Given the description of an element on the screen output the (x, y) to click on. 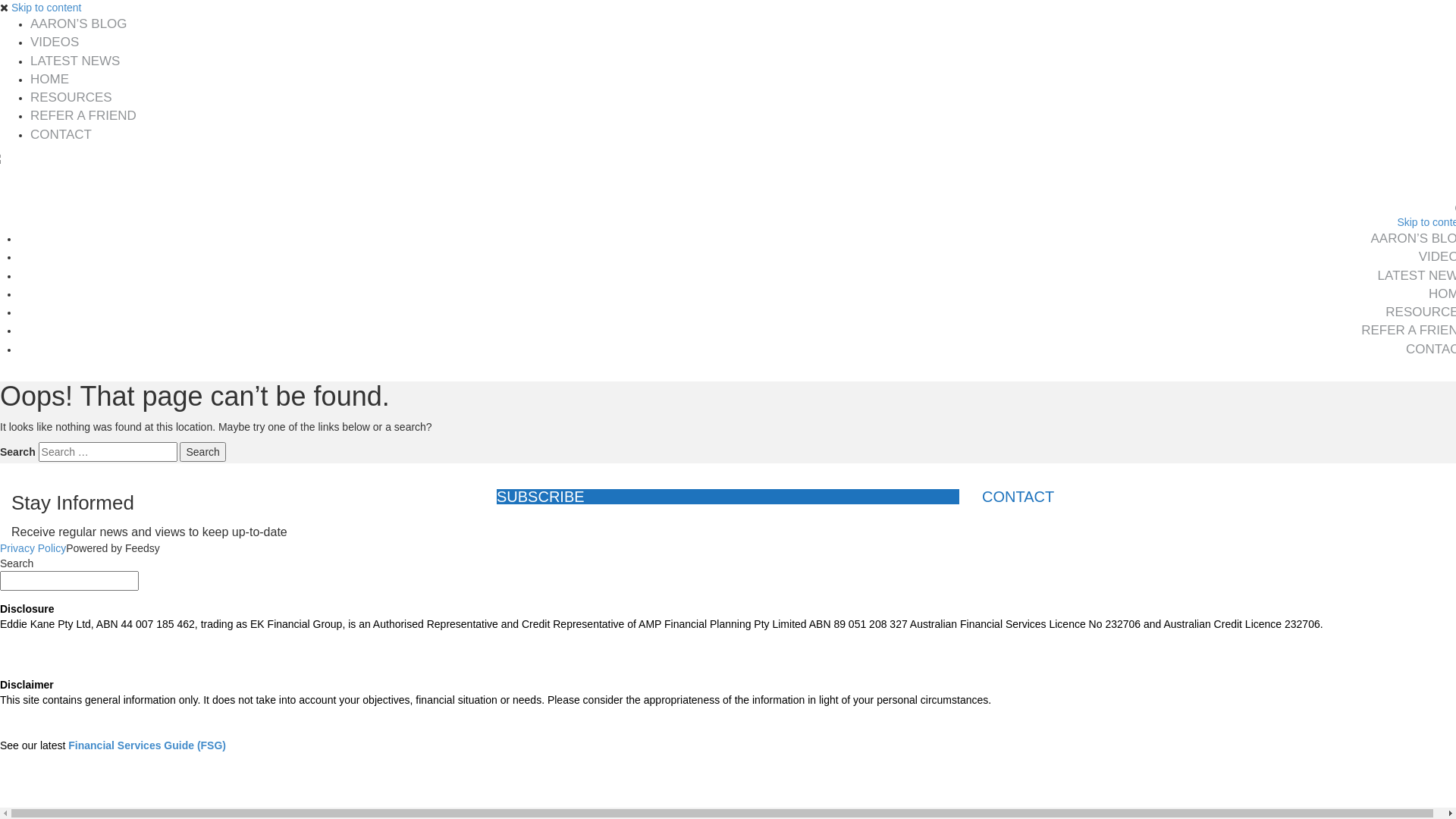
REFER A FRIEND Element type: text (83, 115)
SUBSCRIBE Element type: text (727, 496)
HOME Element type: text (49, 79)
Skip to content Element type: text (46, 7)
Privacy Policy Element type: text (32, 548)
RESOURCES Element type: text (71, 97)
CONTACT Element type: text (1213, 496)
VIDEOS Element type: text (54, 41)
CONTACT Element type: text (60, 134)
Search Element type: text (202, 451)
LATEST NEWS Element type: text (74, 60)
Financial Services Guide (FSG) Element type: text (146, 745)
